Given the description of an element on the screen output the (x, y) to click on. 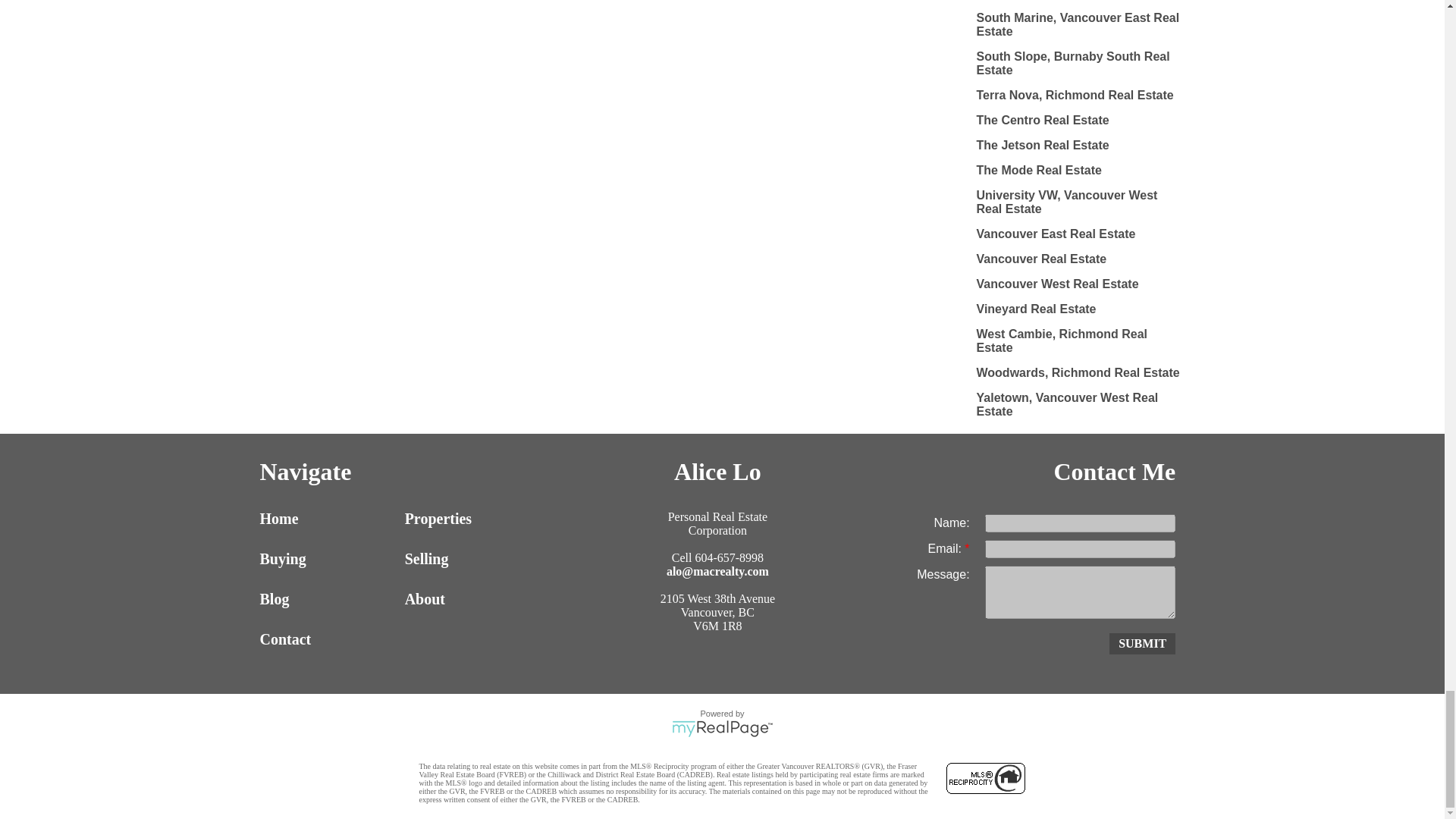
About (472, 599)
Contact (327, 639)
Buying (327, 559)
Home (327, 518)
Selling (472, 559)
Properties (472, 518)
Blog (327, 599)
